Given the description of an element on the screen output the (x, y) to click on. 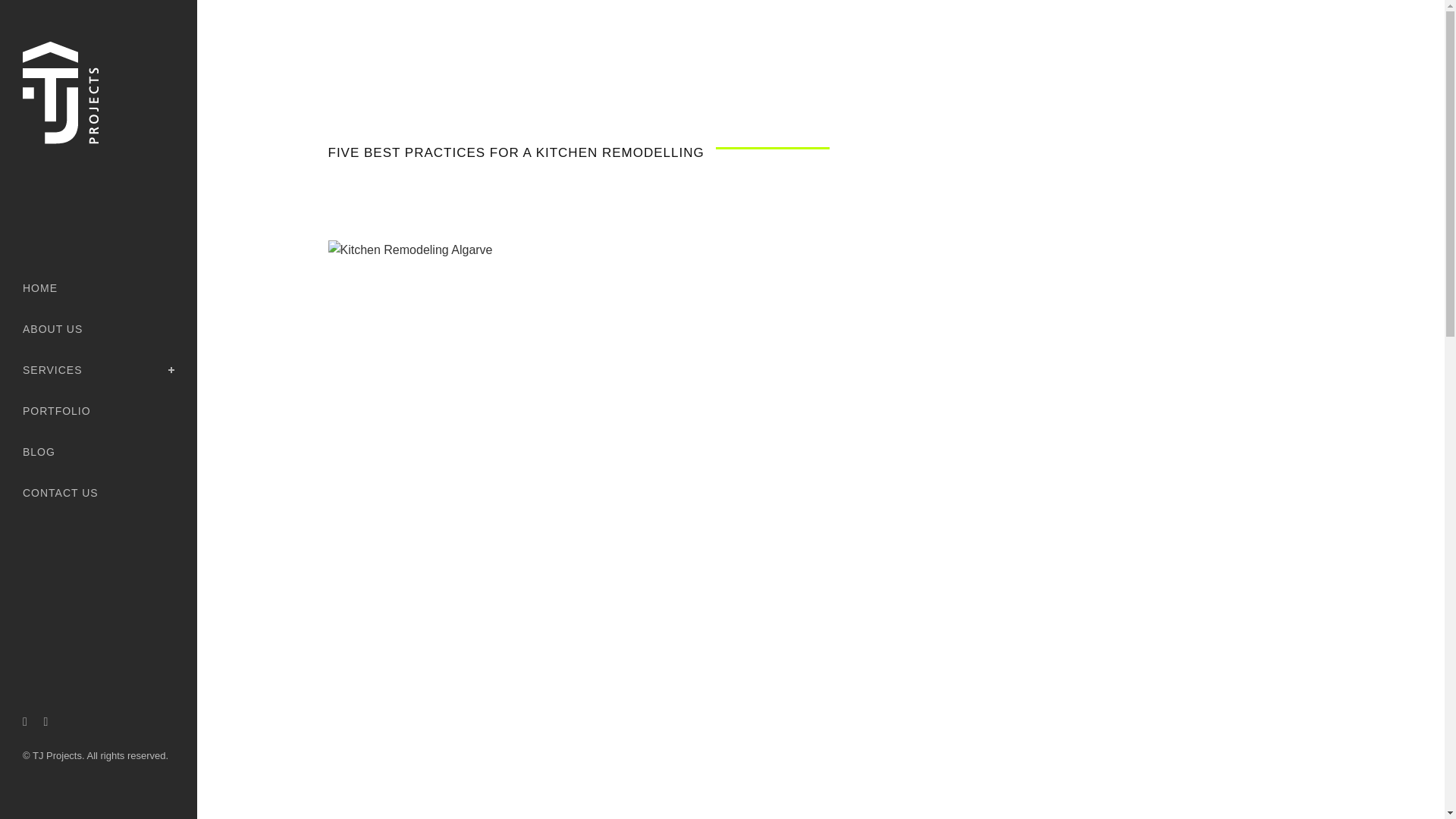
CONTACT US (98, 492)
SERVICES (98, 369)
ABOUT US (98, 328)
BLOG (98, 451)
PORTFOLIO (98, 410)
HOME (98, 287)
